Given the description of an element on the screen output the (x, y) to click on. 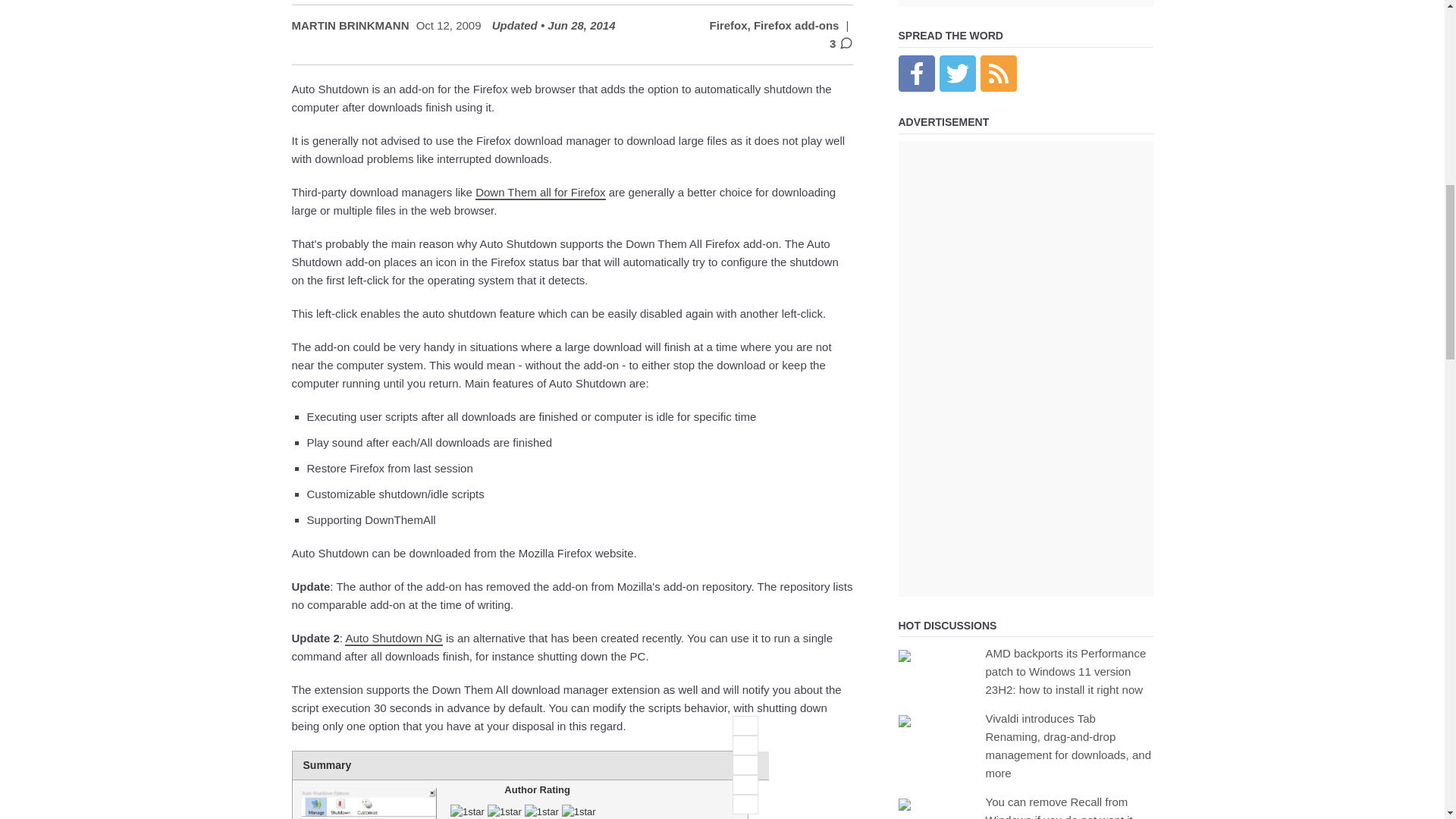
1 (745, 725)
2 (745, 745)
3 (745, 764)
4 (745, 784)
5 (745, 804)
